Given the description of an element on the screen output the (x, y) to click on. 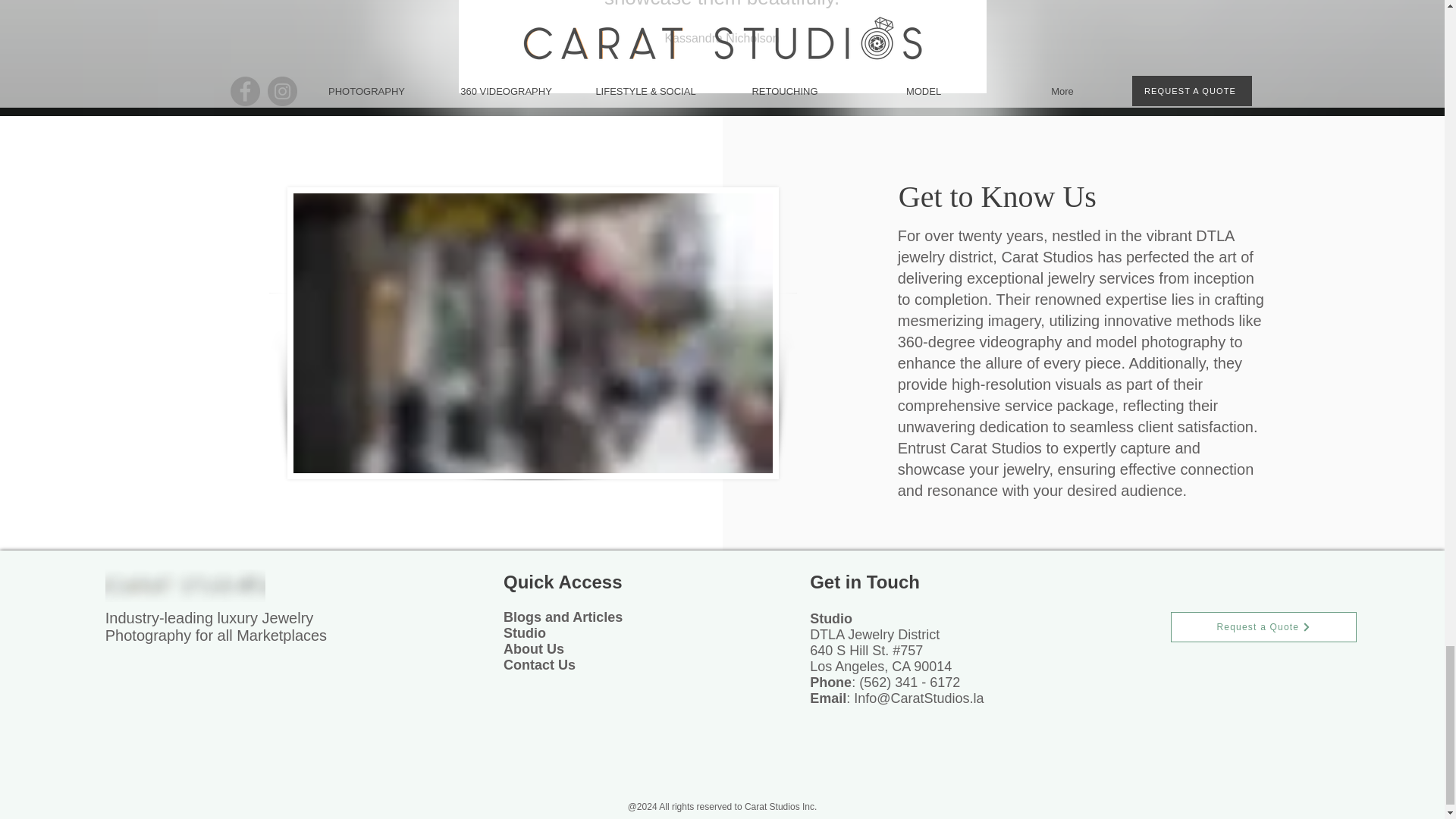
About Us (533, 648)
Contact Us (539, 664)
Blogs and Articles (563, 616)
Kassandra Nicholson (720, 38)
Studio (524, 632)
